Given the description of an element on the screen output the (x, y) to click on. 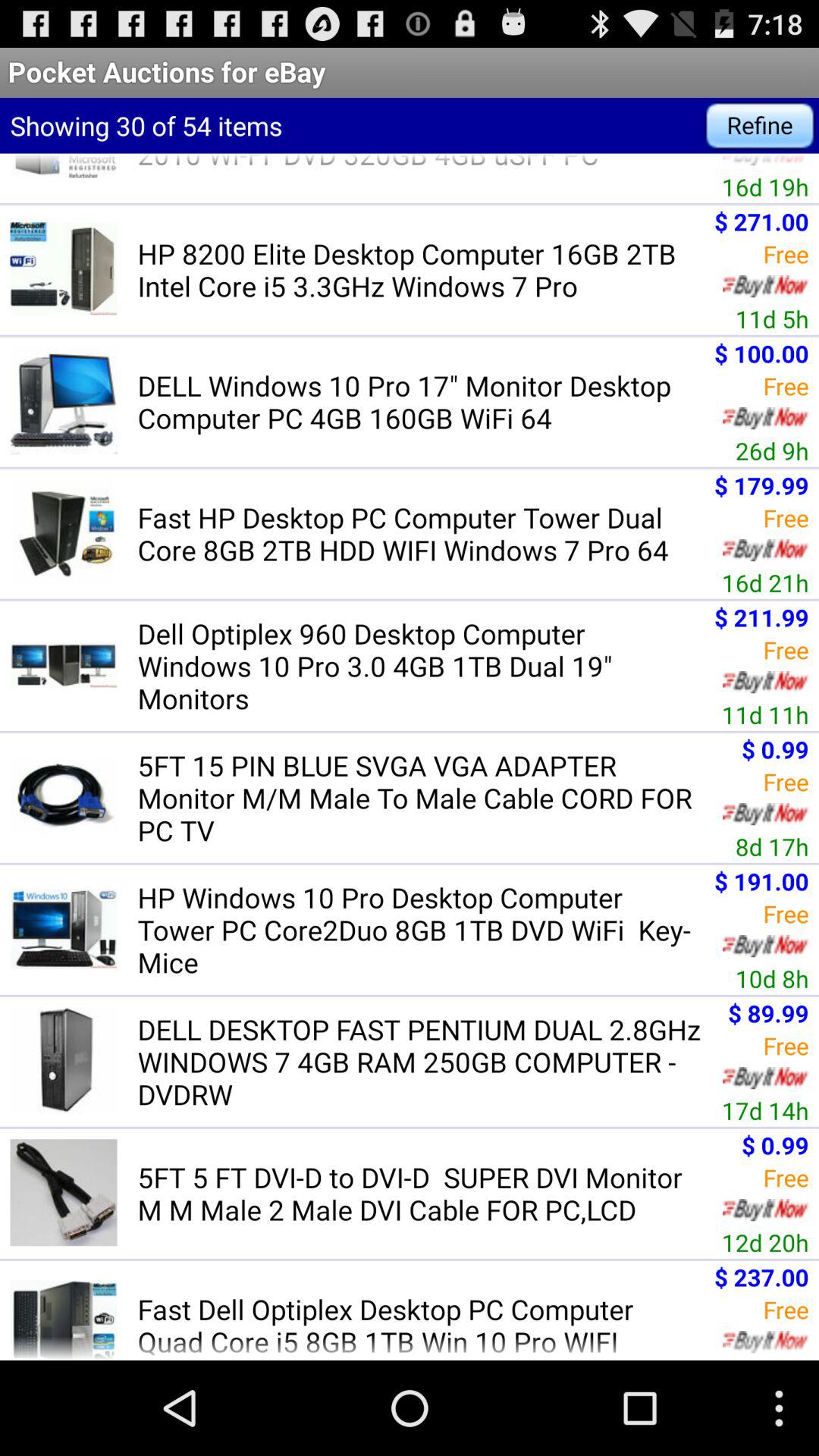
jump to 8d 17h item (771, 846)
